Given the description of an element on the screen output the (x, y) to click on. 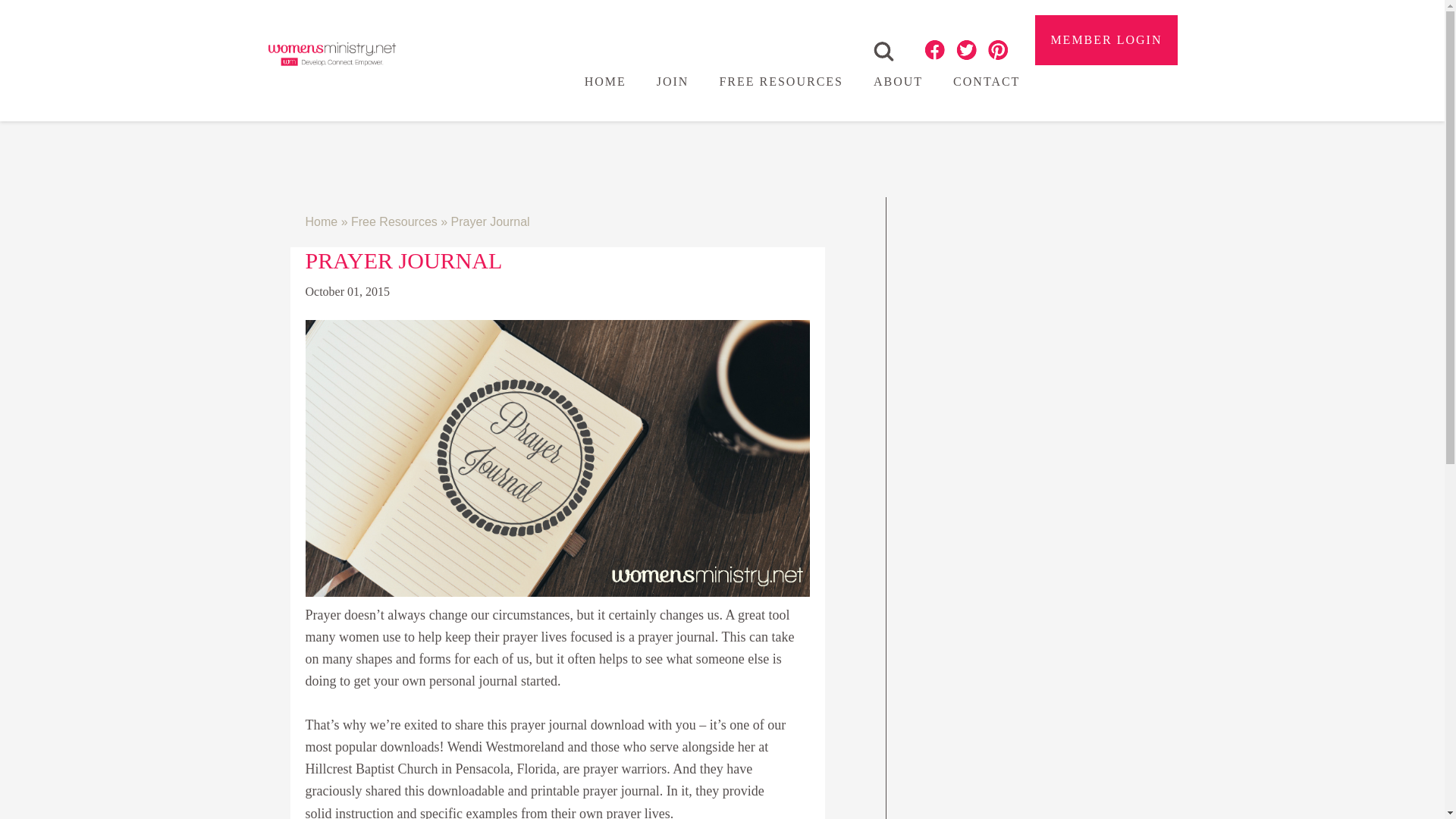
womensministry.net (331, 53)
Home (320, 221)
MEMBER LOGIN (1105, 39)
Free Resources (394, 221)
JOIN (673, 81)
ABOUT (898, 81)
CONTACT (986, 81)
Search (883, 51)
FREE RESOURCES (781, 81)
HOME (605, 81)
